Given the description of an element on the screen output the (x, y) to click on. 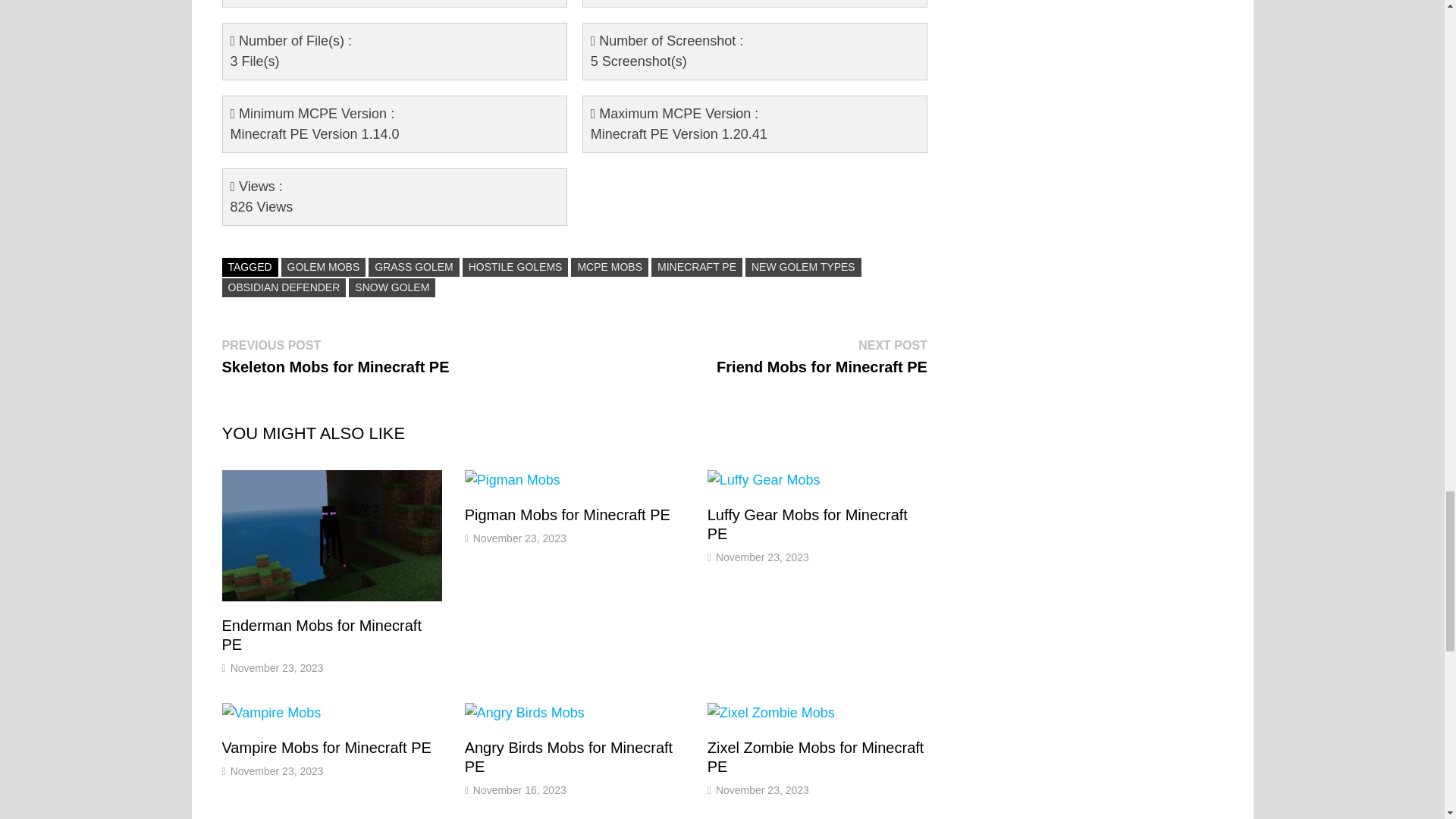
Luffy Gear Mobs for Minecraft PE (807, 524)
MINECRAFT PE (696, 266)
NEW GOLEM TYPES (803, 266)
Vampire Mobs for Minecraft PE (325, 747)
GOLEM MOBS (323, 266)
Zixel Zombie Mobs for Minecraft PE (815, 756)
MCPE MOBS (608, 266)
OBSIDIAN DEFENDER (283, 287)
Enderman Mobs for Minecraft PE (320, 634)
Pigman Mobs for Minecraft PE (566, 514)
